Given the description of an element on the screen output the (x, y) to click on. 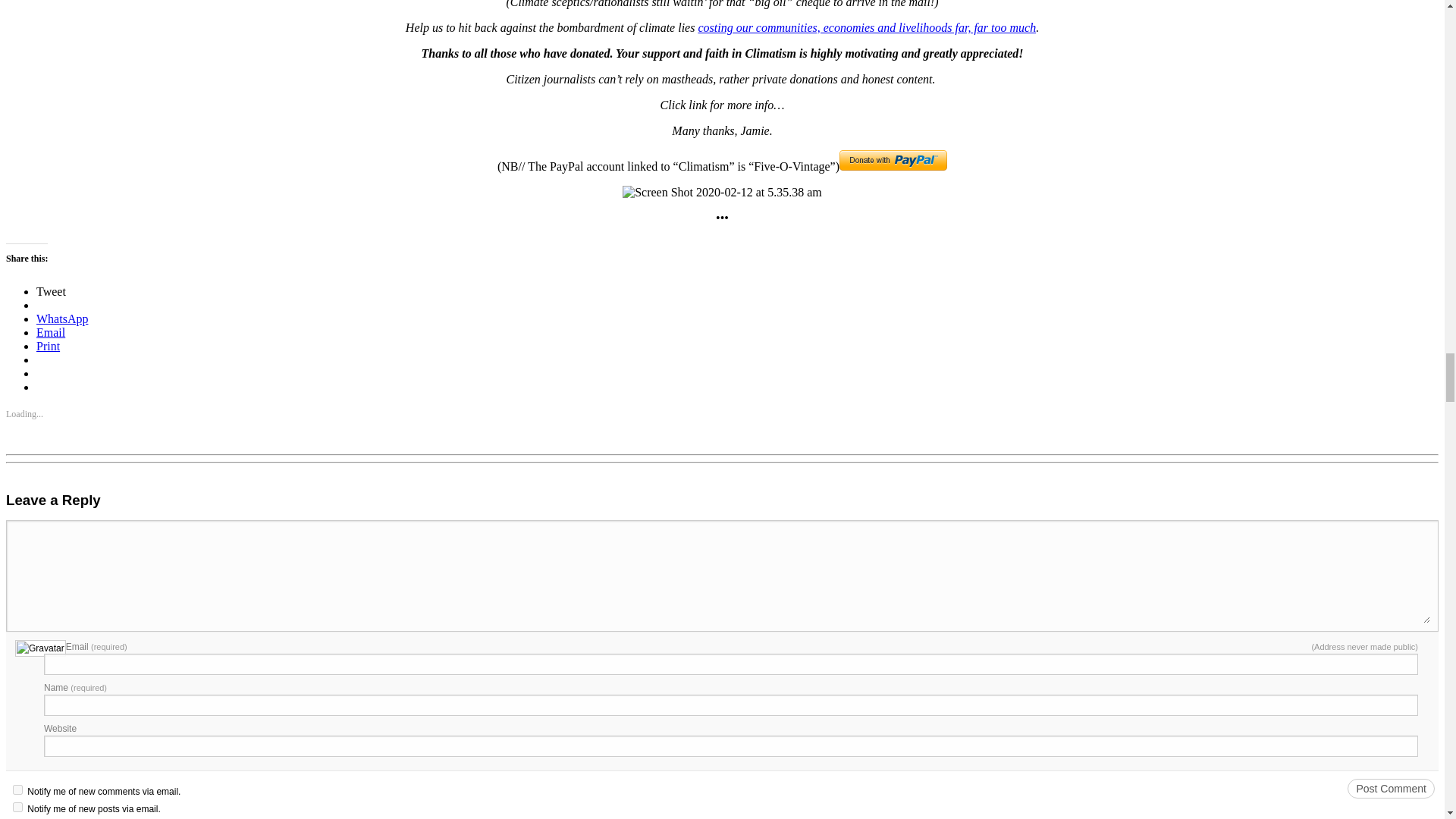
subscribe (18, 807)
Click to share on WhatsApp (61, 318)
subscribe (18, 789)
Click to print (47, 345)
Click to email this to a friend (50, 332)
